Given the description of an element on the screen output the (x, y) to click on. 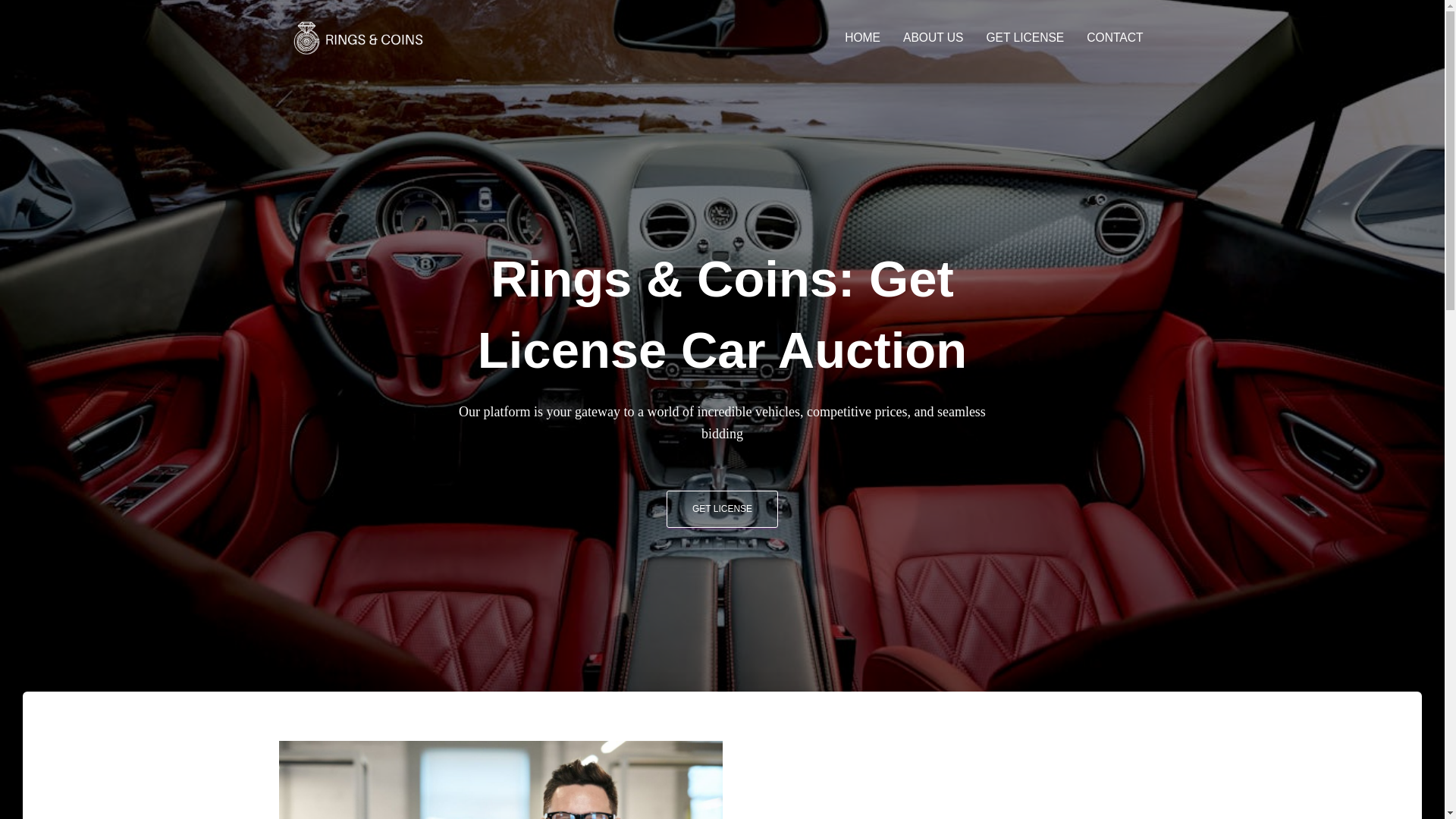
Get License (721, 508)
CONTACT (1114, 37)
ABOUT US (932, 37)
HOME (861, 37)
GET LICENSE (721, 508)
About Us (932, 37)
GET LICENSE (1024, 37)
Get License (1024, 37)
Home (861, 37)
Contact (1114, 37)
